Given the description of an element on the screen output the (x, y) to click on. 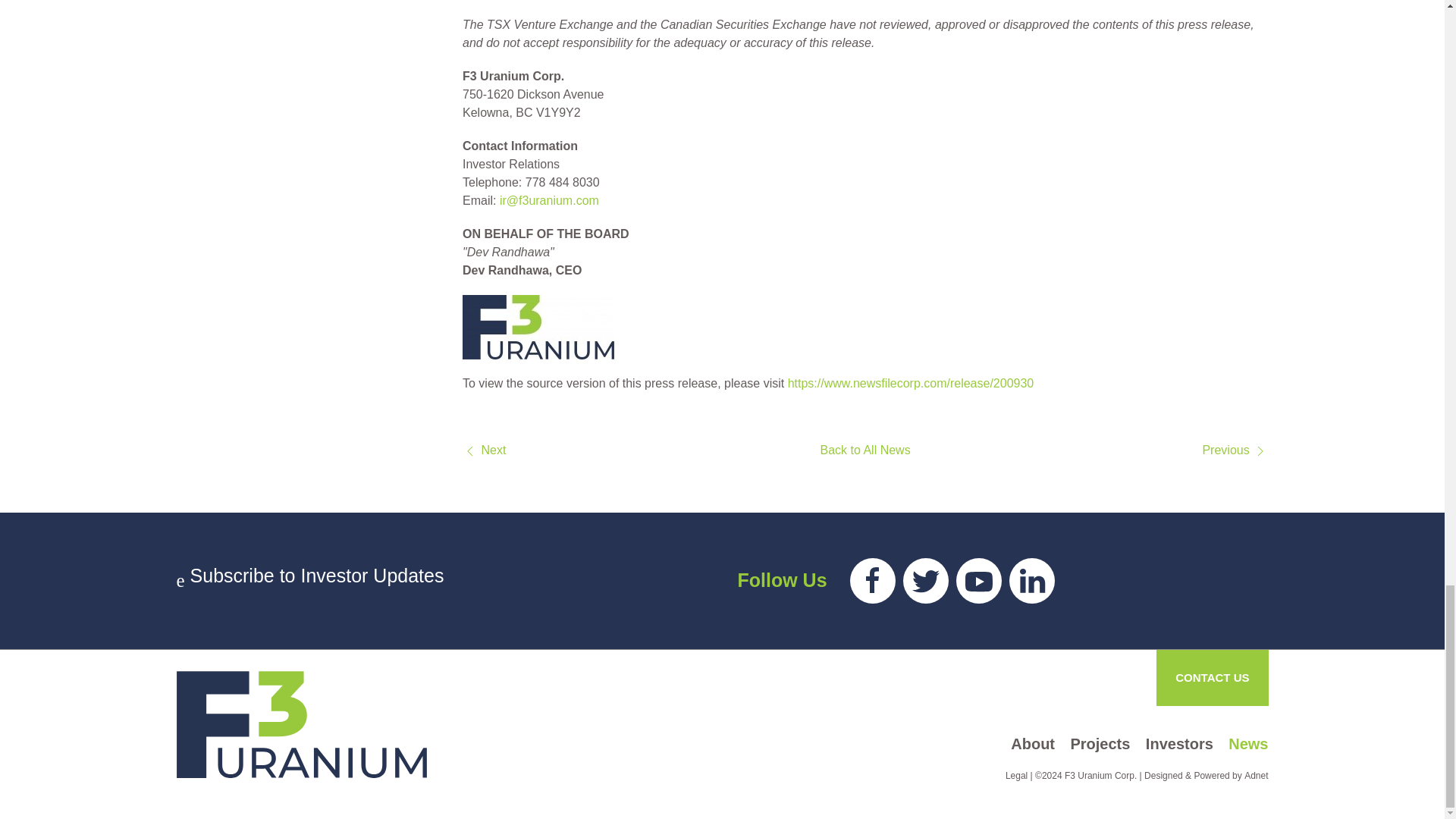
Back to Home Page (301, 723)
